Given the description of an element on the screen output the (x, y) to click on. 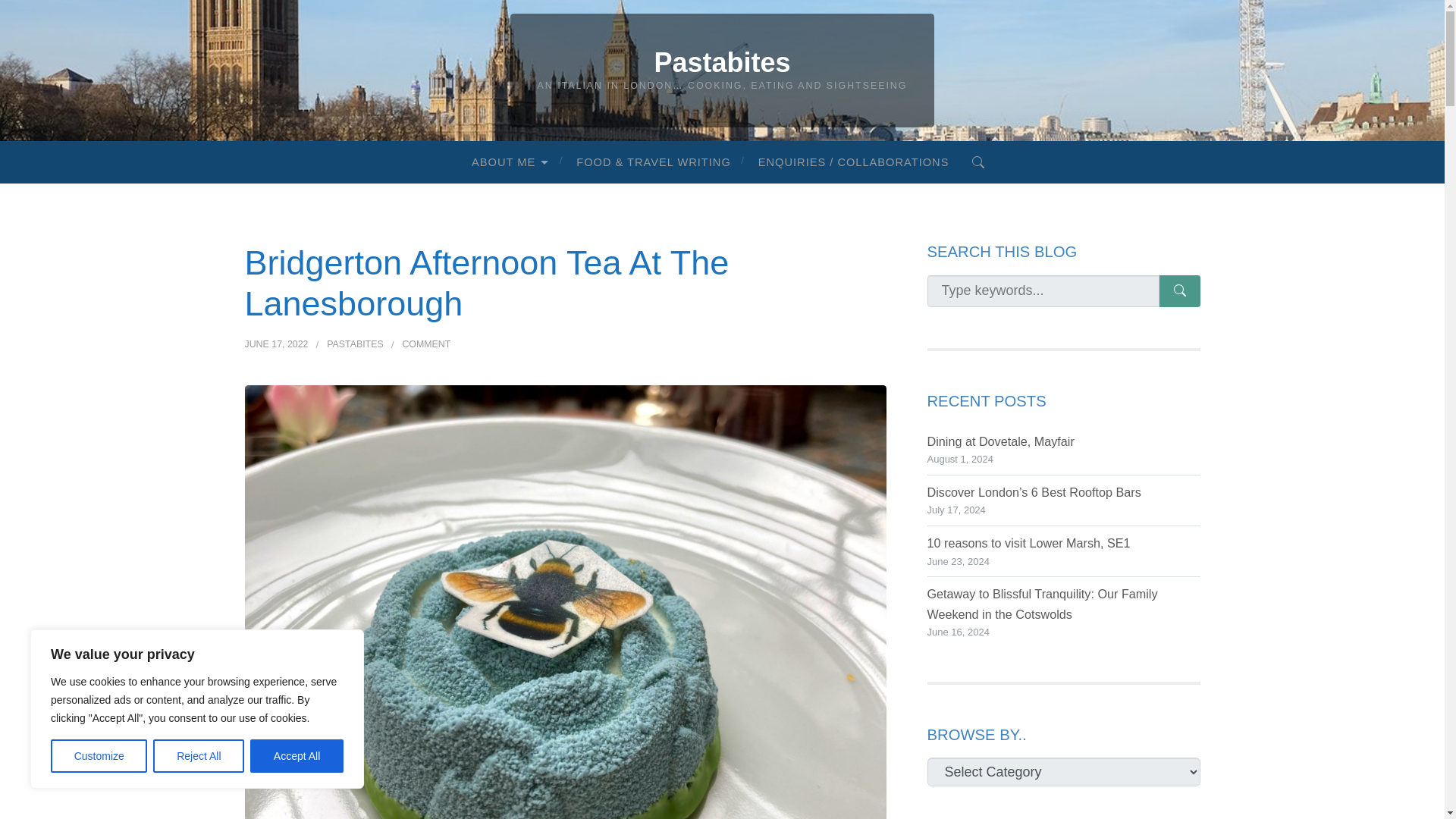
Accept All (296, 756)
ABOUT ME (510, 162)
Customize (98, 756)
Search for: (425, 344)
Pastabites (1042, 291)
Search (721, 61)
Reject All (978, 161)
